Given the description of an element on the screen output the (x, y) to click on. 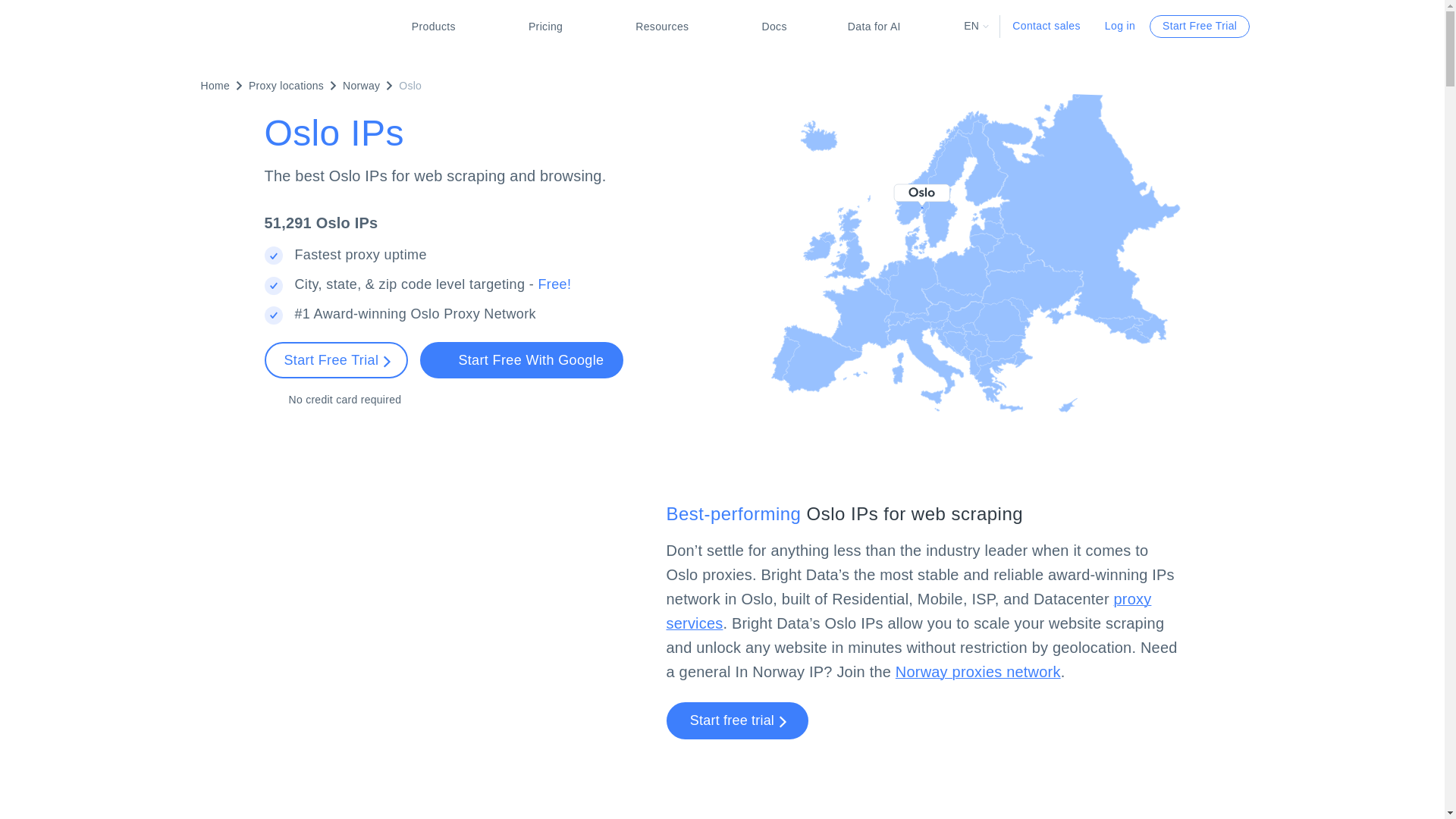
Start Free Trial (335, 360)
EN (975, 26)
Start Free With Google (521, 360)
